Given the description of an element on the screen output the (x, y) to click on. 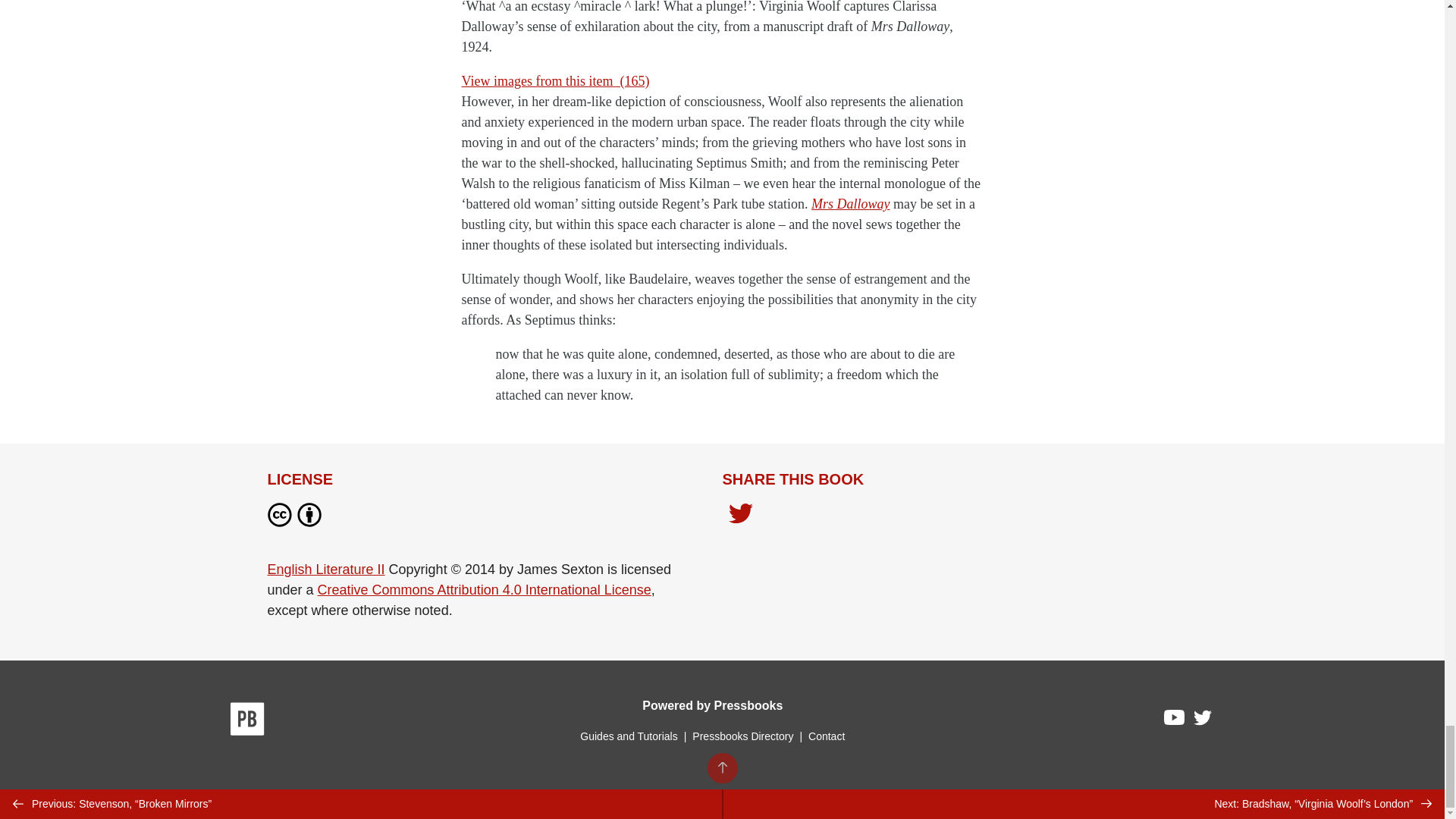
Share on Twitter (740, 514)
